Given the description of an element on the screen output the (x, y) to click on. 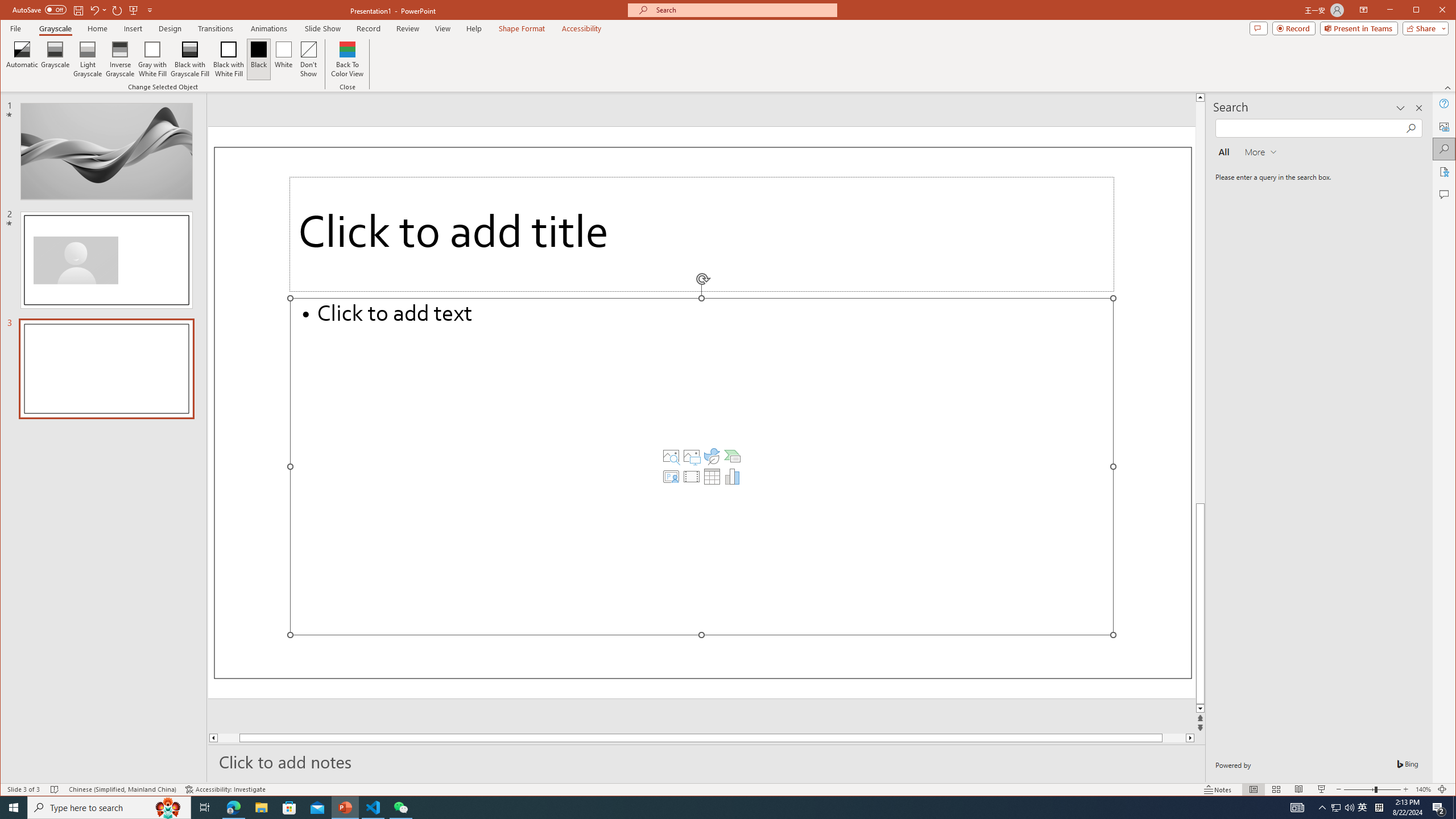
Don't Show (308, 59)
AutomationID: 4105 (1297, 807)
Black (258, 59)
Type here to search (108, 807)
Title TextBox (701, 233)
System (10, 10)
Comments (1444, 194)
Start (13, 807)
PowerPoint - 1 running window (345, 807)
Black with White Fill (229, 59)
Customize Quick Access Toolbar (150, 9)
Zoom (1371, 789)
Task Pane Options (1400, 107)
Zoom In (1405, 789)
Stock Images (670, 456)
